Given the description of an element on the screen output the (x, y) to click on. 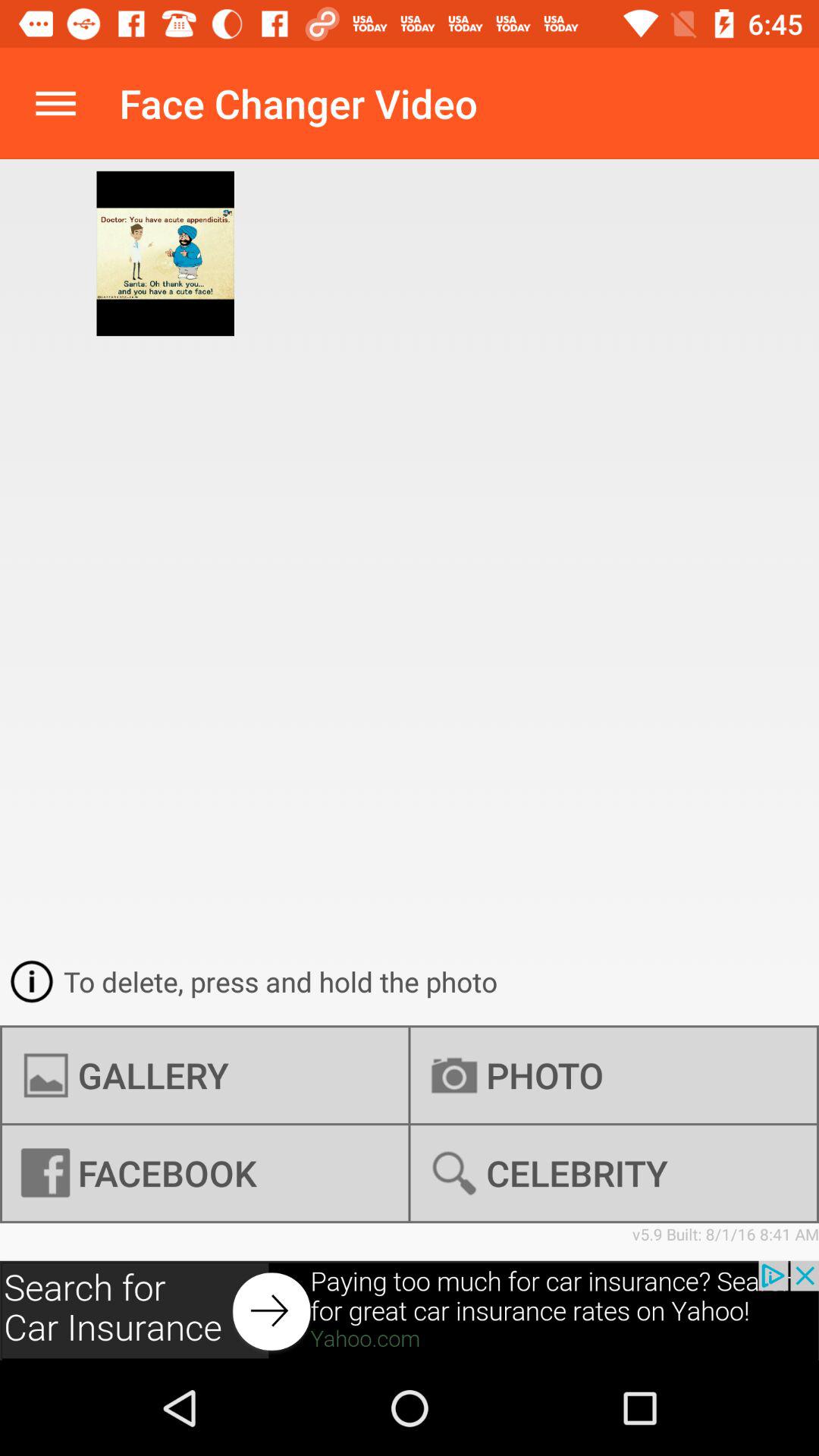
video (409, 1310)
